Given the description of an element on the screen output the (x, y) to click on. 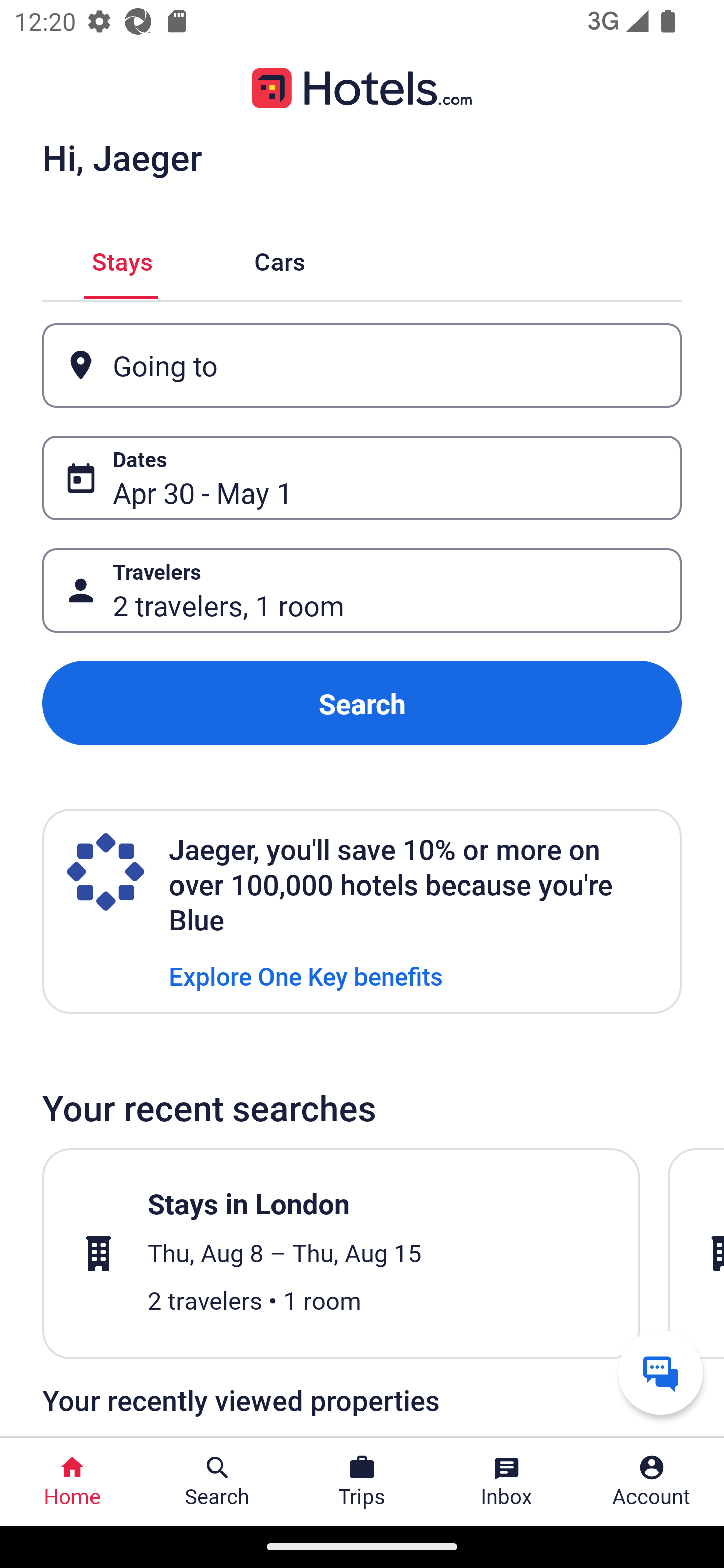
Hi, Jaeger (121, 156)
Cars (279, 259)
Going to Button (361, 365)
Dates Button Apr 30 - May 1 (361, 477)
Travelers Button 2 travelers, 1 room (361, 590)
Search (361, 702)
Get help from a virtual agent (660, 1371)
Search Search Button (216, 1481)
Trips Trips Button (361, 1481)
Inbox Inbox Button (506, 1481)
Account Profile. Button (651, 1481)
